Given the description of an element on the screen output the (x, y) to click on. 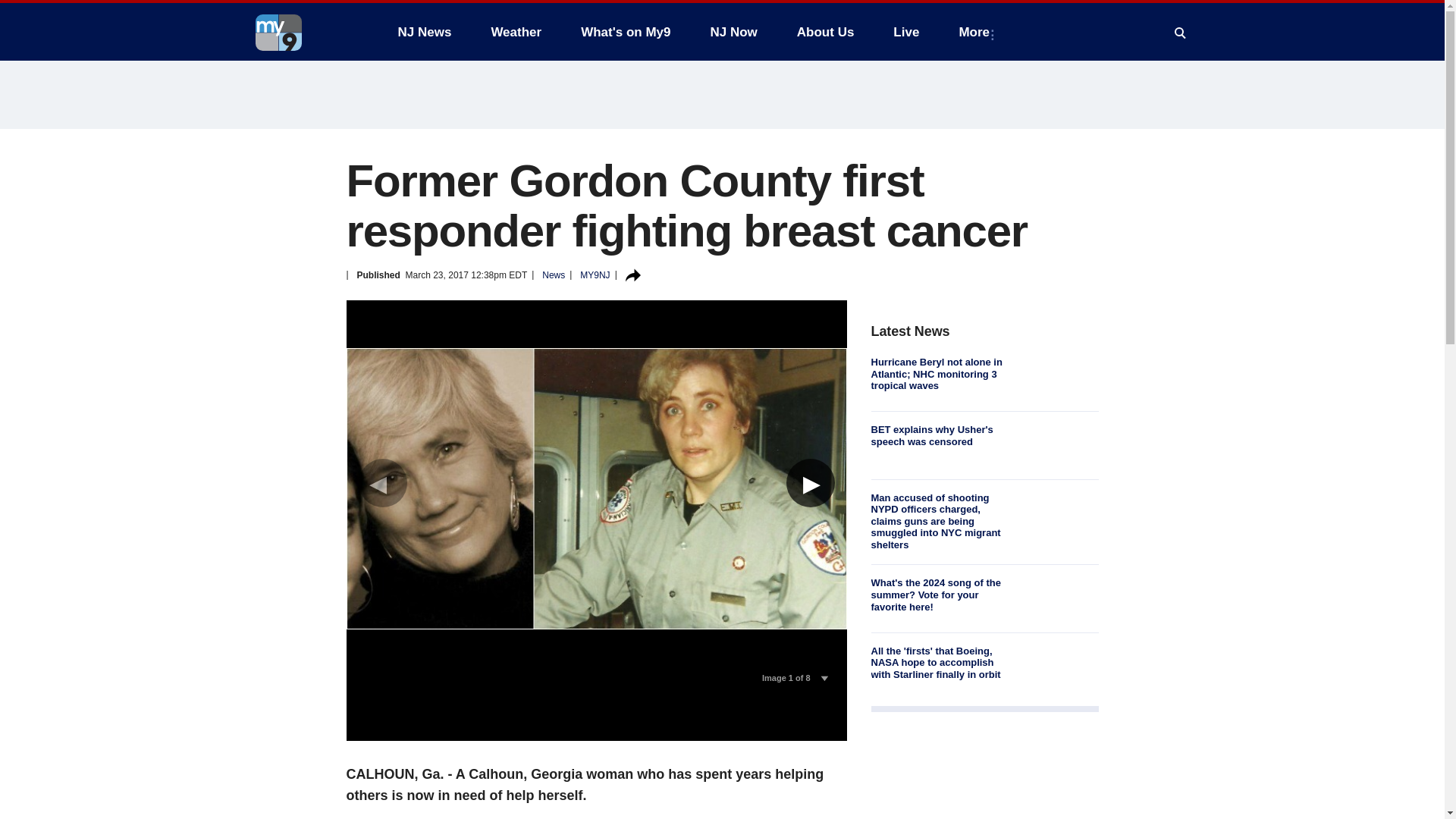
Live (905, 32)
MY9NJ (594, 275)
More (976, 32)
About Us (825, 32)
Weather (516, 32)
NJ News (424, 32)
NJ Now (732, 32)
News (552, 275)
What's on My9 (625, 32)
